Given the description of an element on the screen output the (x, y) to click on. 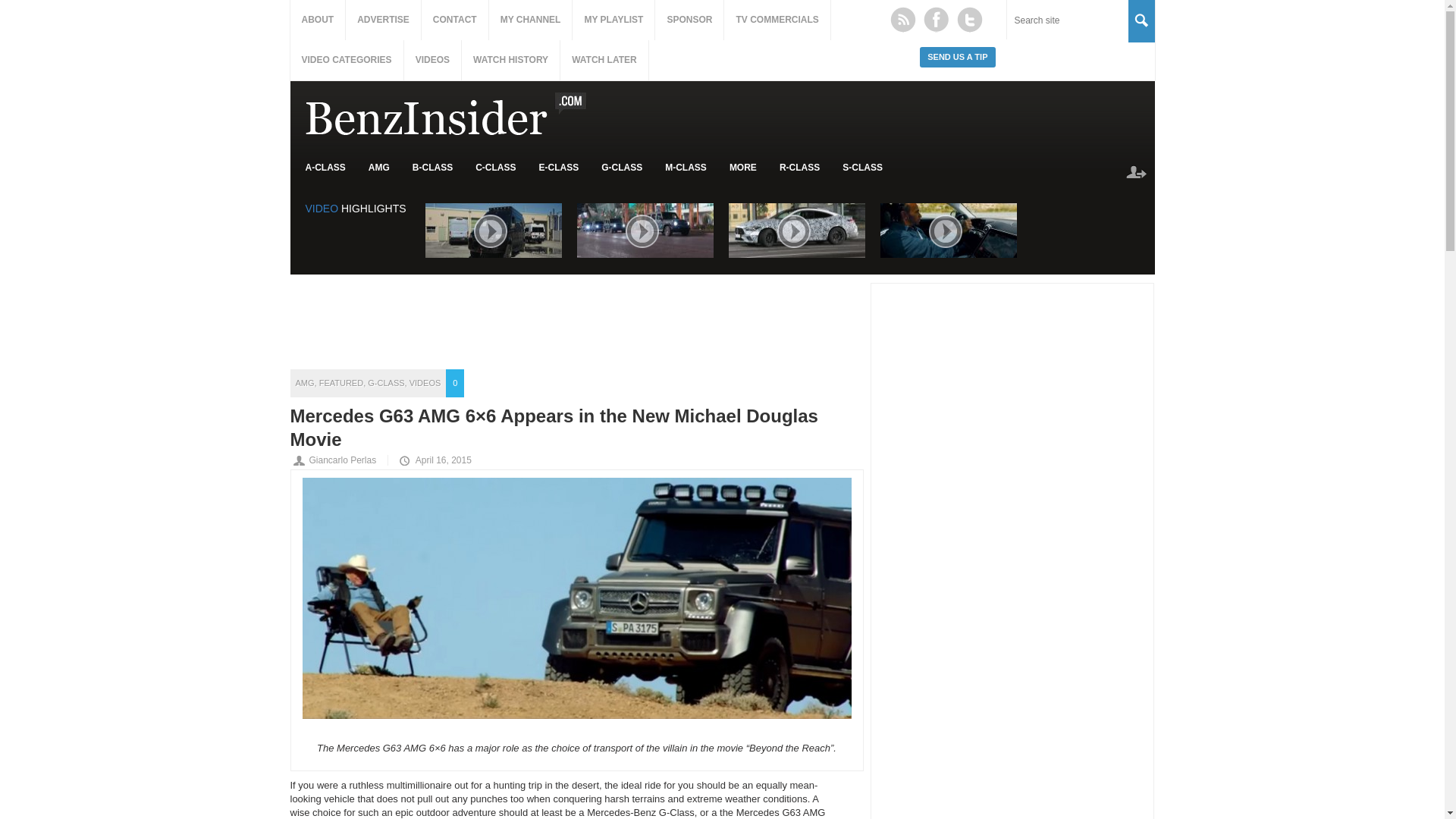
B-CLASS (432, 167)
E-CLASS (559, 167)
G-CLASS (621, 167)
M-CLASS (685, 167)
ADVERTISE (383, 20)
TV COMMERCIALS (776, 20)
8:05 pm (433, 460)
AMG (378, 167)
VIDEO CATEGORIES (346, 60)
MORE (742, 167)
A-CLASS (325, 167)
SPONSOR (689, 20)
MY PLAYLIST (612, 20)
ABOUT (317, 20)
VIDEOS (432, 60)
